Given the description of an element on the screen output the (x, y) to click on. 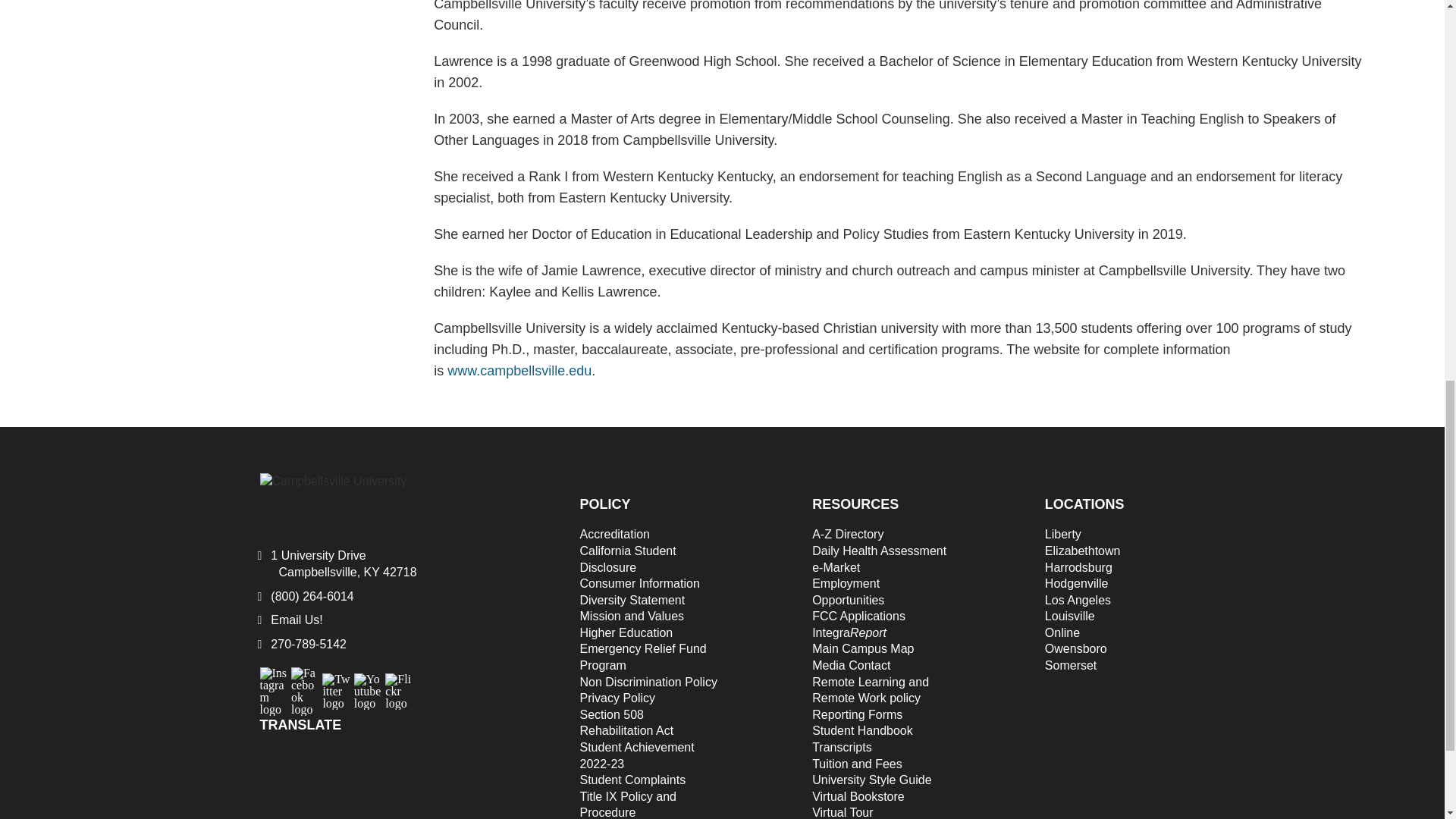
Flickr (399, 687)
Twitter (335, 687)
Facebook (304, 681)
Youtube (367, 687)
Instagram (272, 681)
